Given the description of an element on the screen output the (x, y) to click on. 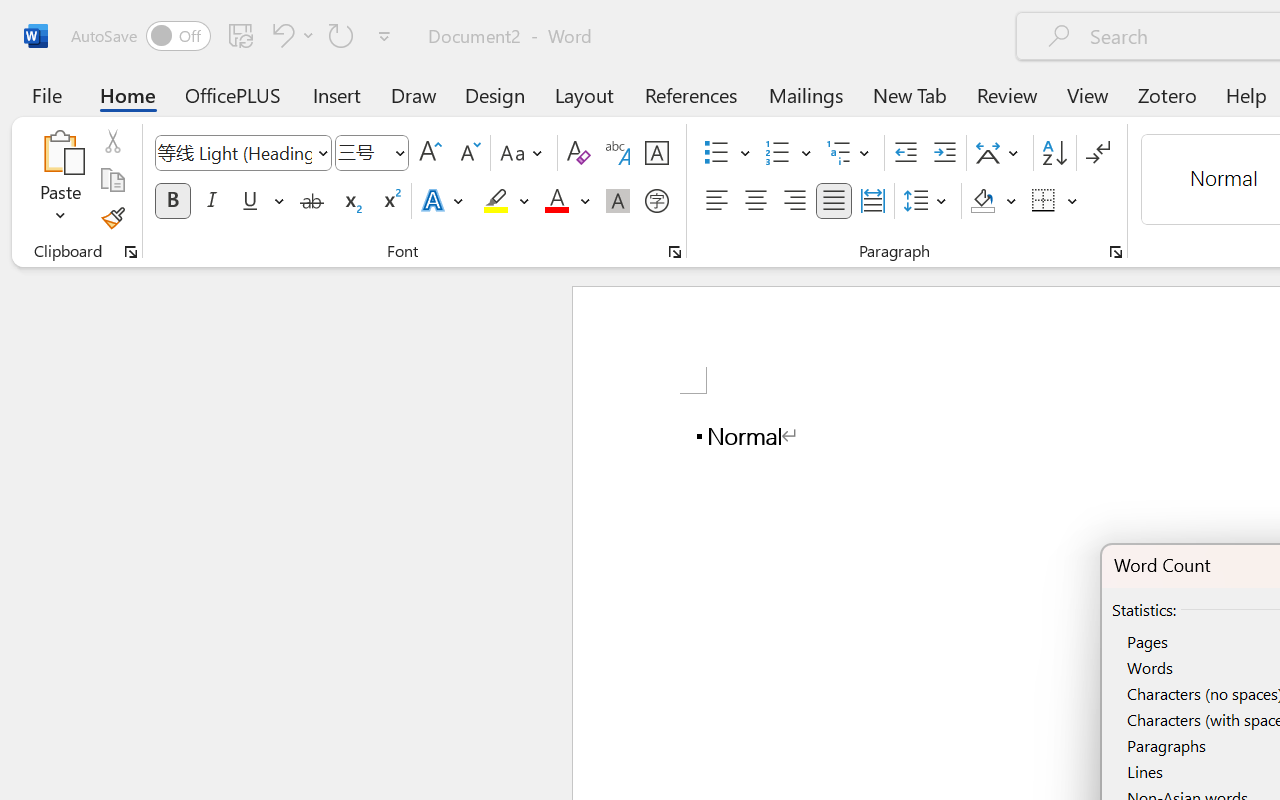
Borders (1055, 201)
File Tab (46, 94)
Italic (212, 201)
Shrink Font (468, 153)
Font Color (567, 201)
Clear Formatting (578, 153)
Strikethrough (312, 201)
Character Border (656, 153)
Zotero (1166, 94)
OfficePLUS (233, 94)
Phonetic Guide... (618, 153)
References (690, 94)
Show/Hide Editing Marks (1098, 153)
Cut (112, 141)
Justify (834, 201)
